Given the description of an element on the screen output the (x, y) to click on. 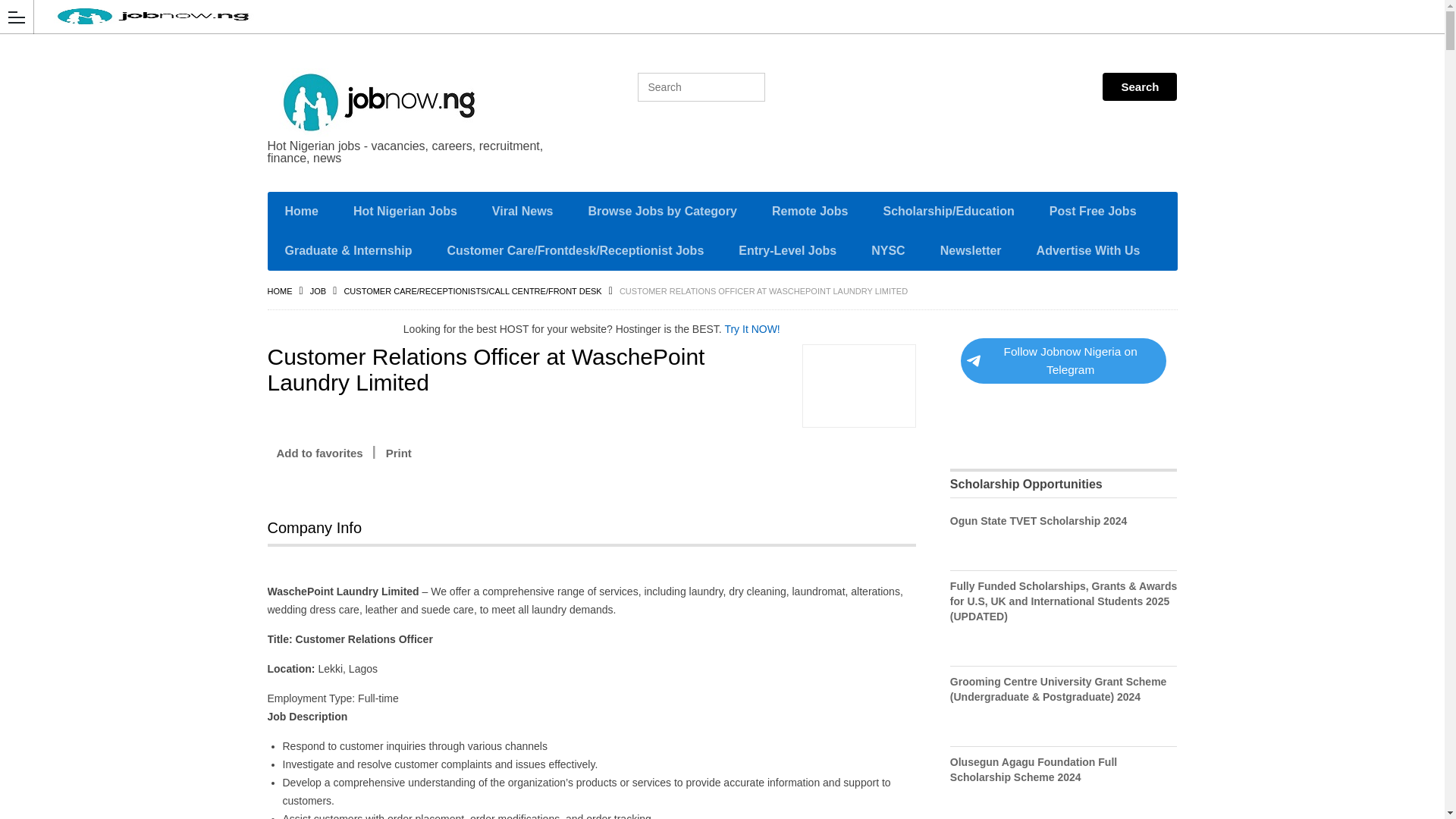
Print this post (398, 453)
Jobnow Nigeria (708, 16)
Ogun State TVET Scholarship 2024 (1038, 521)
Search (1139, 86)
Viral News (522, 210)
NYSC (887, 250)
Jobnow Nigeria (410, 101)
Newsletter (971, 250)
Advertise With Us (1088, 250)
Search (1139, 86)
